Given the description of an element on the screen output the (x, y) to click on. 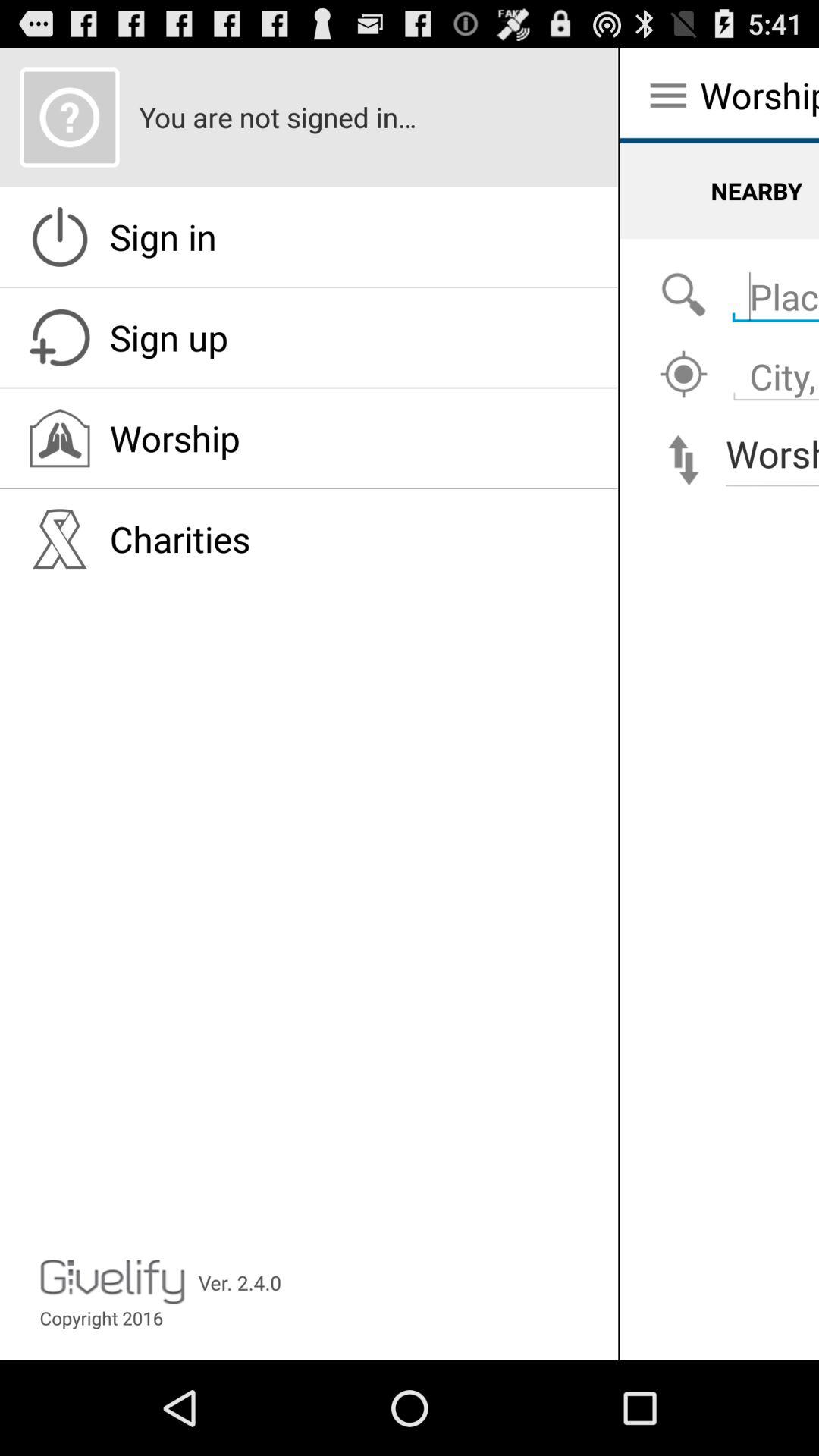
type in city (772, 368)
